Given the description of an element on the screen output the (x, y) to click on. 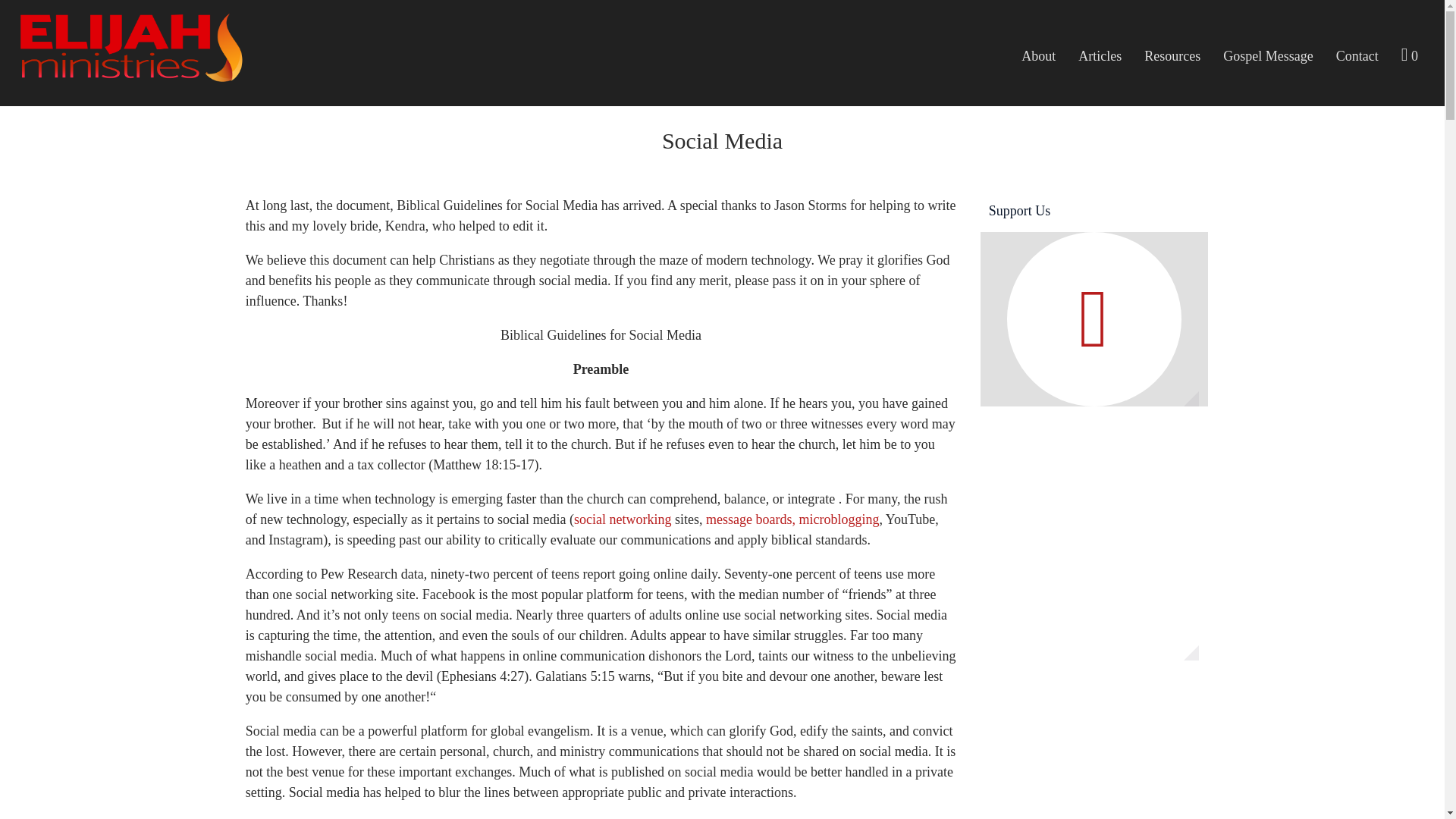
Articles (1099, 55)
microblogging (838, 519)
social networking (622, 519)
Resources (1171, 55)
Contact (1357, 55)
Elijah Ministries (128, 73)
message boards, (750, 519)
About (1038, 55)
Gospel Message (1267, 55)
